Given the description of an element on the screen output the (x, y) to click on. 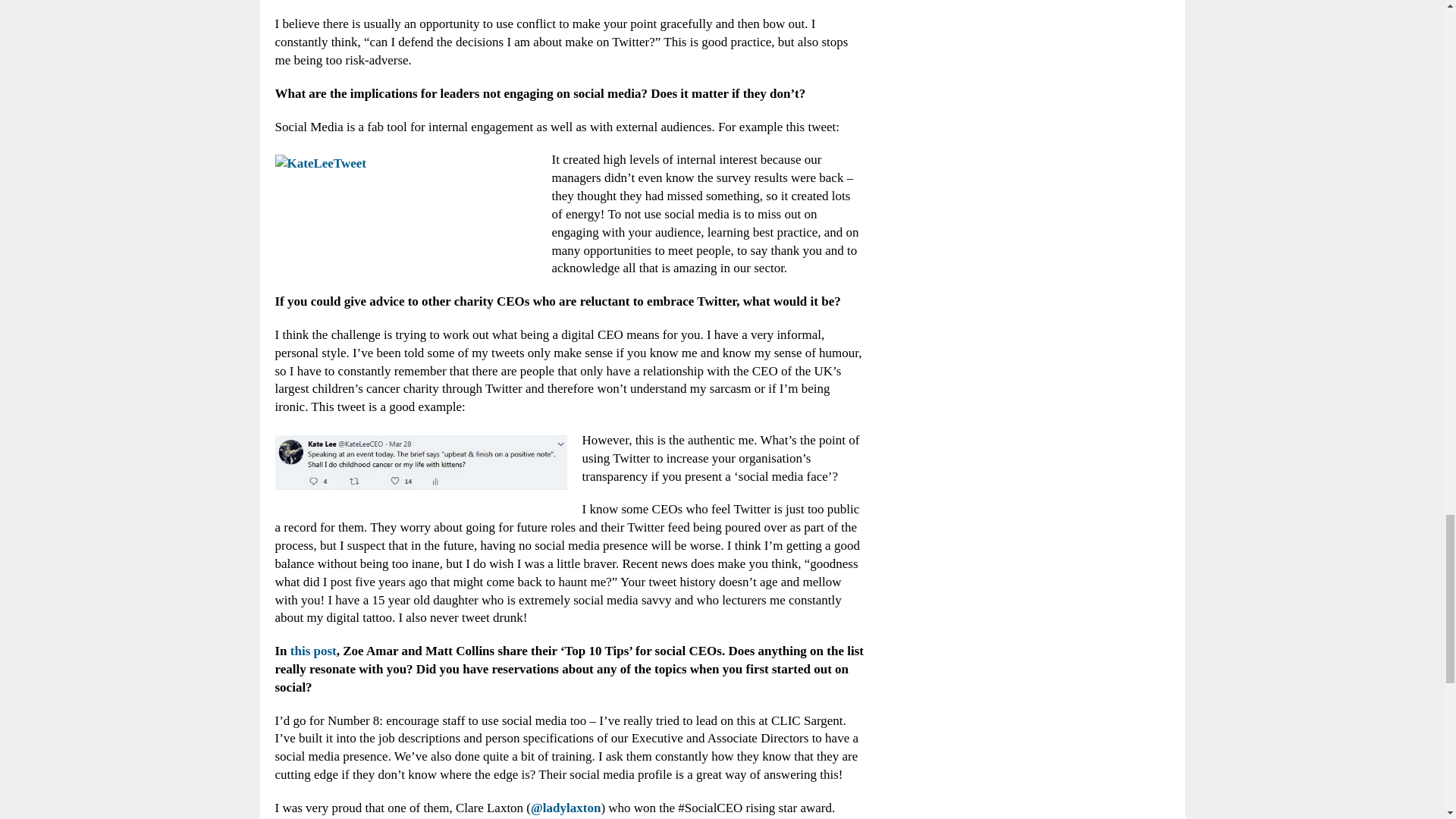
this post (312, 650)
